Given the description of an element on the screen output the (x, y) to click on. 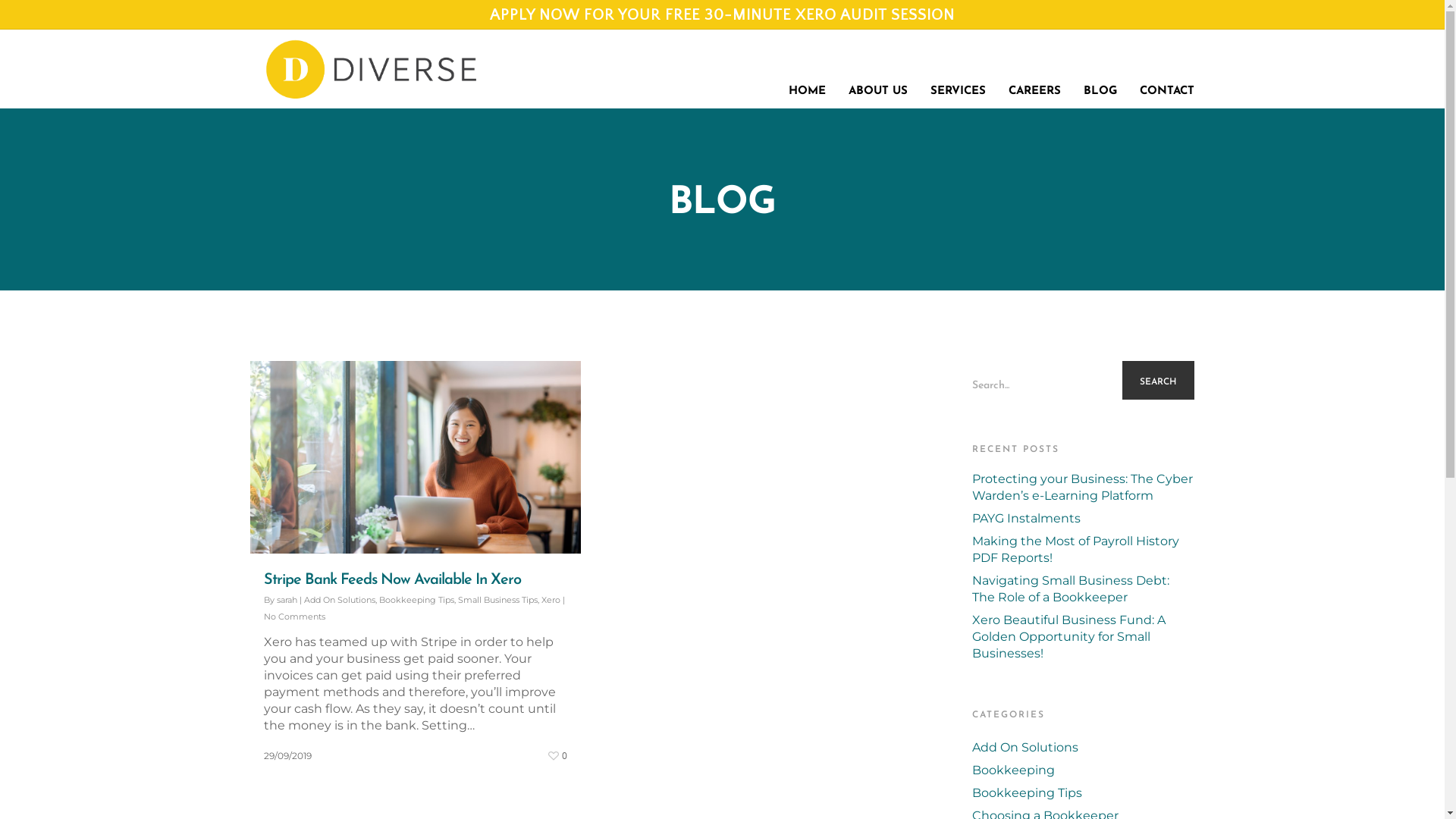
Add On Solutions Element type: text (339, 599)
Stripe Bank Feeds Now Available In Xero Element type: text (391, 579)
Bookkeeping Element type: text (1083, 770)
HOME Element type: text (806, 65)
Search for: Element type: hover (1083, 381)
0 Element type: text (555, 752)
Small Business Tips Element type: text (497, 599)
Add On Solutions Element type: text (1083, 747)
ABOUT US Element type: text (877, 65)
PAYG Instalments Element type: text (1083, 518)
Bookkeeping Tips Element type: text (1083, 792)
BLOG Element type: text (1100, 65)
APPLY NOW FOR YOUR FREE 30-MINUTE XERO AUDIT SESSION Element type: text (722, 15)
CONTACT Element type: text (1166, 65)
Making the Most of Payroll History PDF Reports! Element type: text (1083, 549)
SERVICES Element type: text (957, 65)
Bookkeeping Tips Element type: text (416, 599)
Xero Element type: text (550, 599)
sarah Element type: text (286, 599)
No Comments Element type: text (294, 616)
CAREERS Element type: text (1034, 65)
Navigating Small Business Debt: The Role of a Bookkeeper Element type: text (1083, 588)
Search Element type: text (1158, 381)
